Given the description of an element on the screen output the (x, y) to click on. 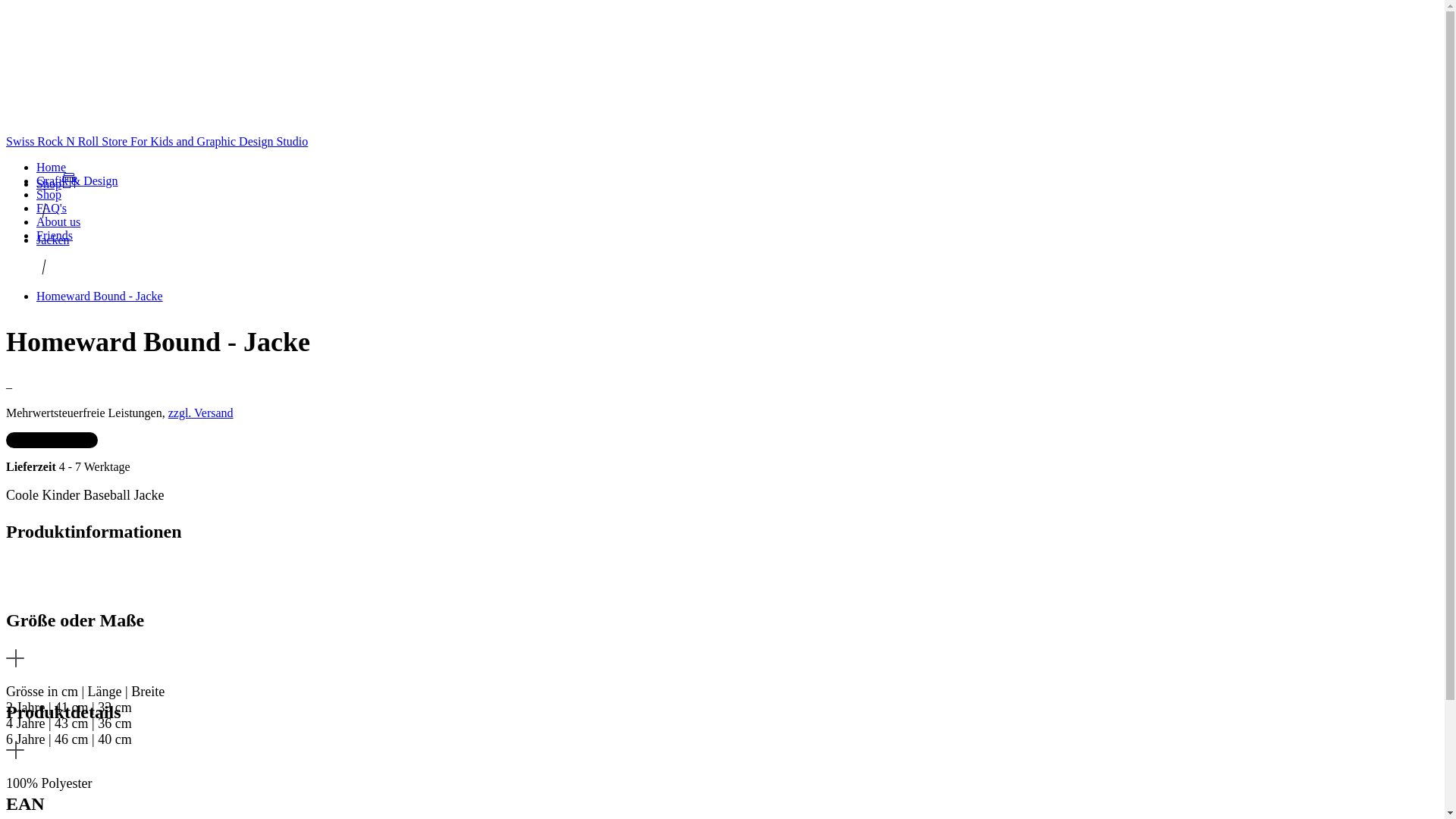
Grafik & Design Element type: text (77, 180)
In den Warenkorb Element type: text (51, 440)
Home Element type: text (50, 166)
Shop Element type: text (56, 183)
Swiss Rock N Roll Store For Kids and Graphic Design Studio Element type: text (722, 141)
About us Element type: text (58, 221)
Jacken Element type: text (52, 239)
Friends Element type: text (54, 235)
Homeward Bound - Jacke Element type: text (99, 295)
Shop Element type: text (48, 194)
FAQ's Element type: text (51, 207)
zzgl. Versand Element type: text (200, 412)
